Given the description of an element on the screen output the (x, y) to click on. 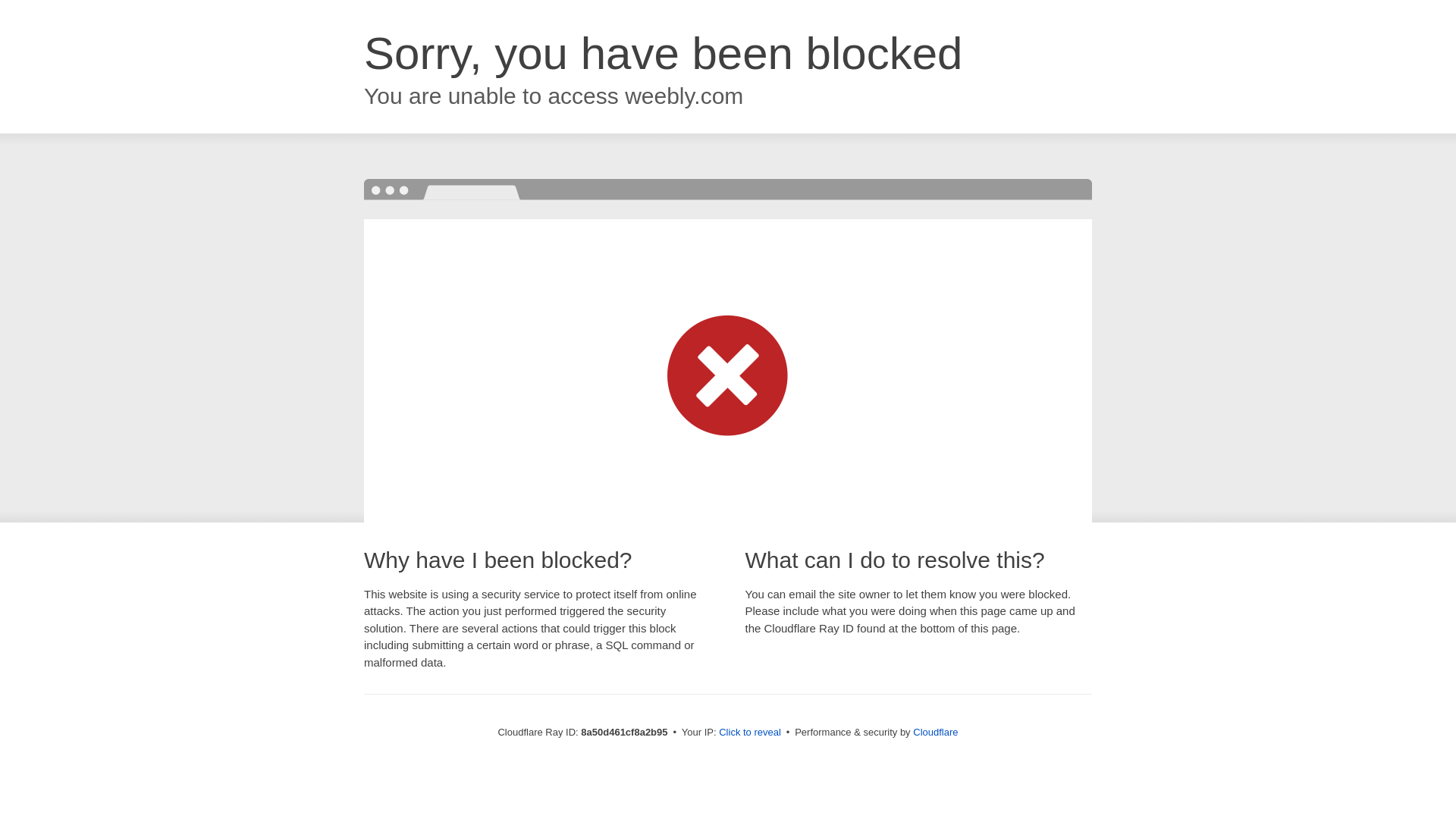
Click to reveal (749, 732)
Cloudflare (935, 731)
